Given the description of an element on the screen output the (x, y) to click on. 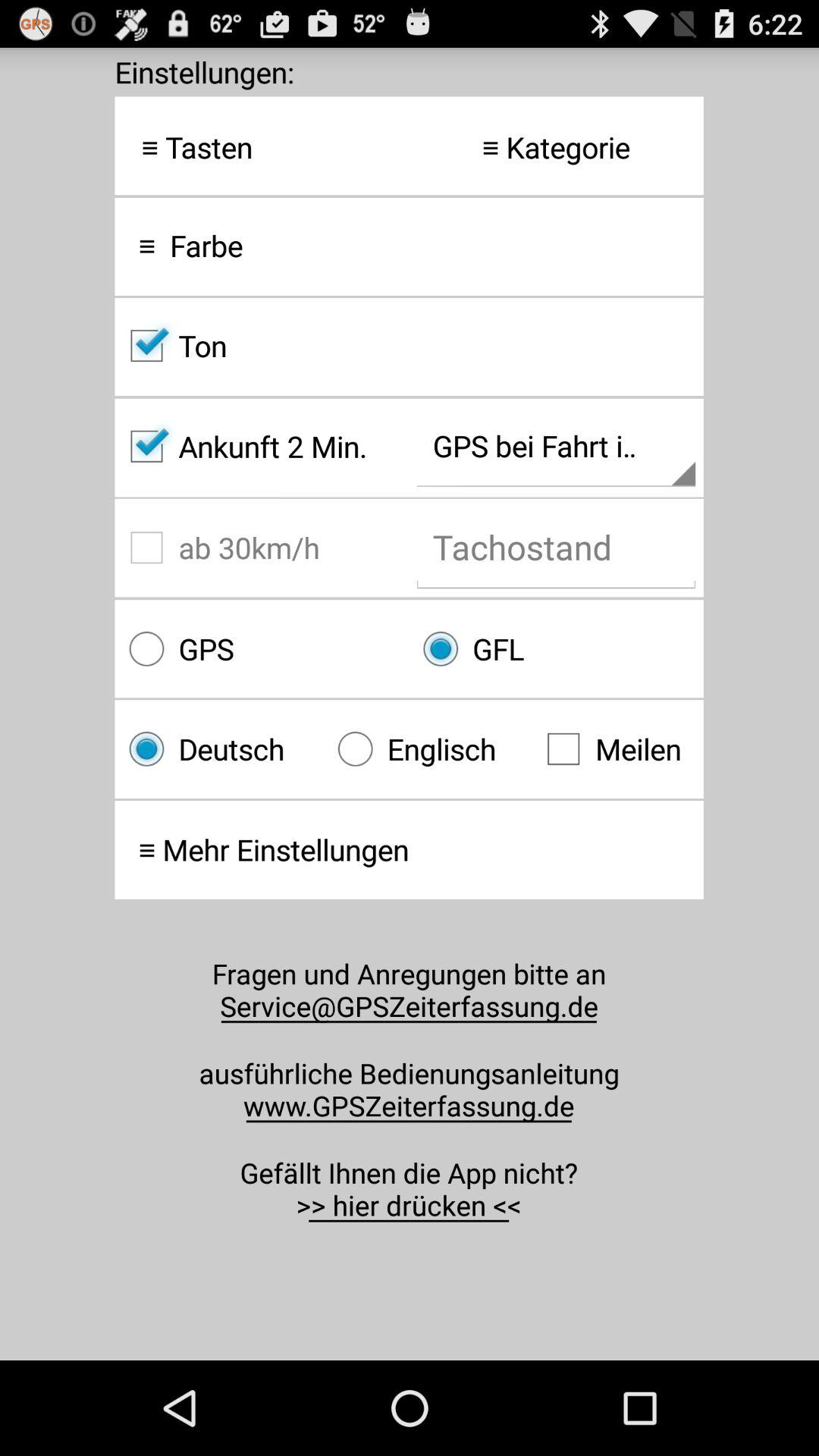
tap item above the ankunft 2 min. icon (408, 346)
